Given the description of an element on the screen output the (x, y) to click on. 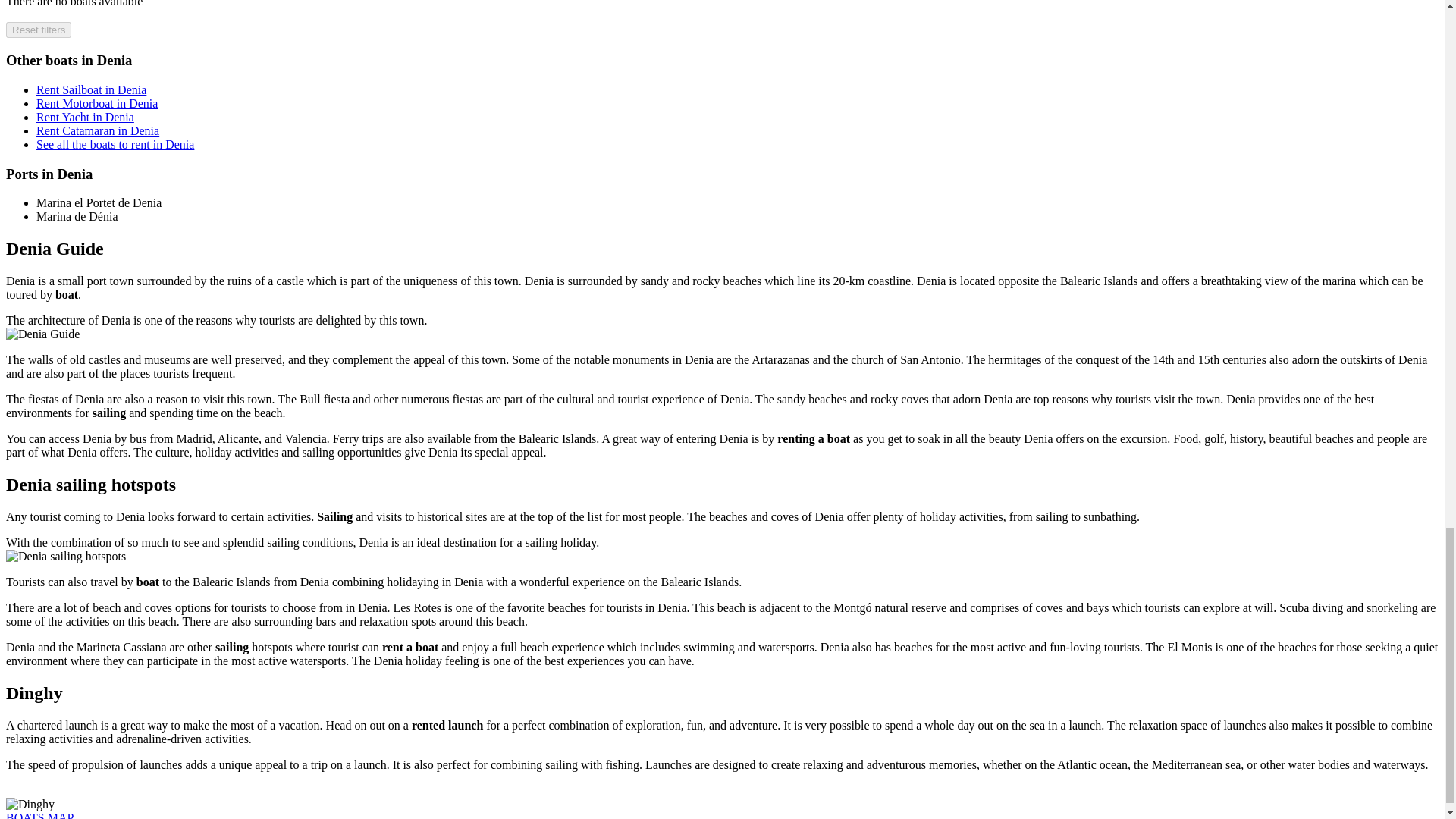
Rent Sailboat in Denia (91, 89)
Rent Motorboat in Denia (96, 103)
Reset filters (38, 29)
